Given the description of an element on the screen output the (x, y) to click on. 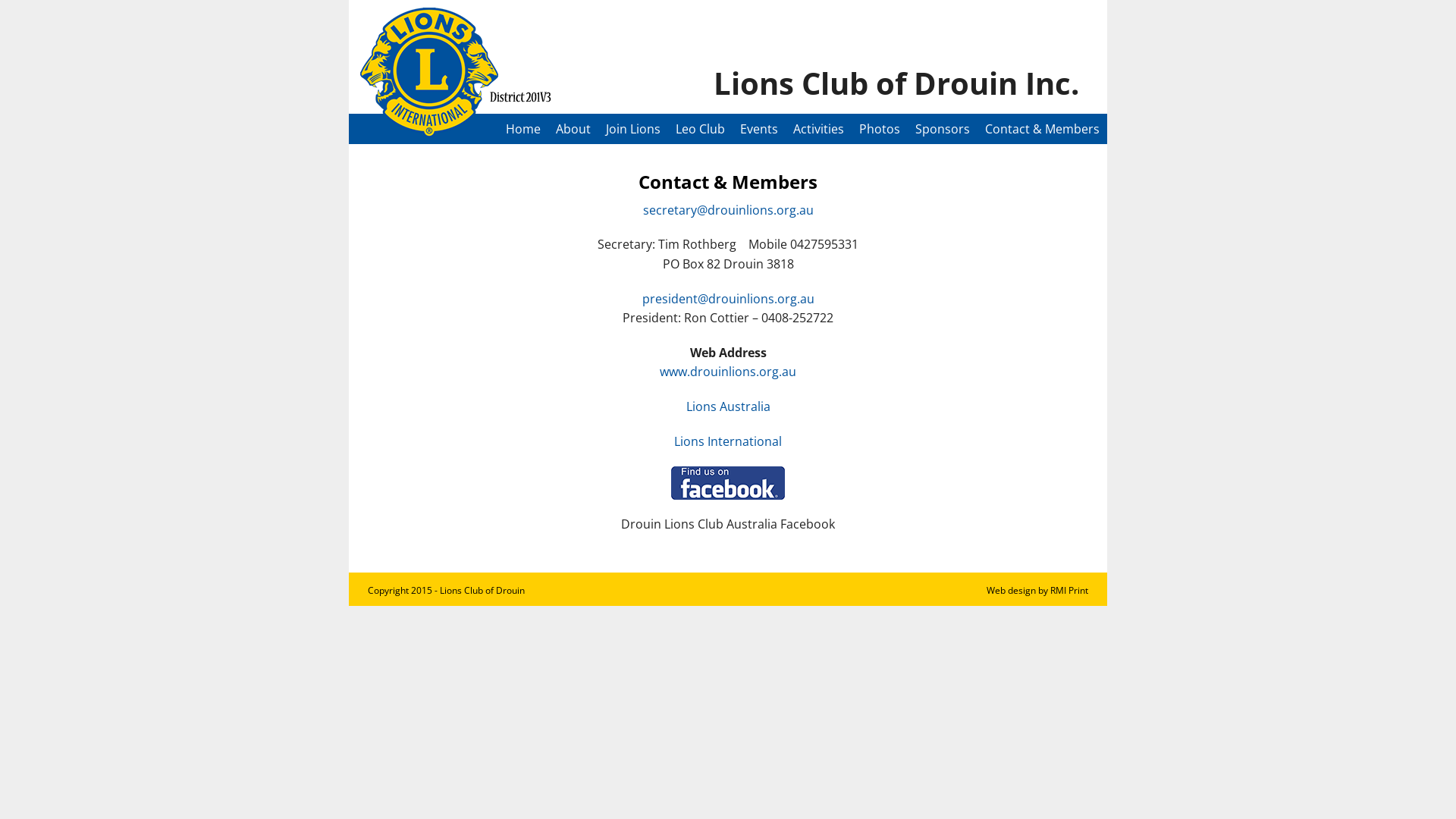
Events Element type: text (758, 128)
secretary@drouinlions.org.au Element type: text (728, 209)
Home Element type: text (523, 128)
Activities Element type: text (818, 128)
About Element type: text (573, 128)
Contact & Members Element type: text (1042, 128)
Sponsors Element type: text (942, 128)
Join Lions Element type: text (633, 128)
Leo Club Element type: text (700, 128)
Lions Australia Element type: text (727, 406)
www.drouinlions.org.au Element type: text (727, 371)
Lions International Element type: text (727, 441)
Photos Element type: text (879, 128)
president@drouinlions.org.au Element type: text (727, 298)
